Given the description of an element on the screen output the (x, y) to click on. 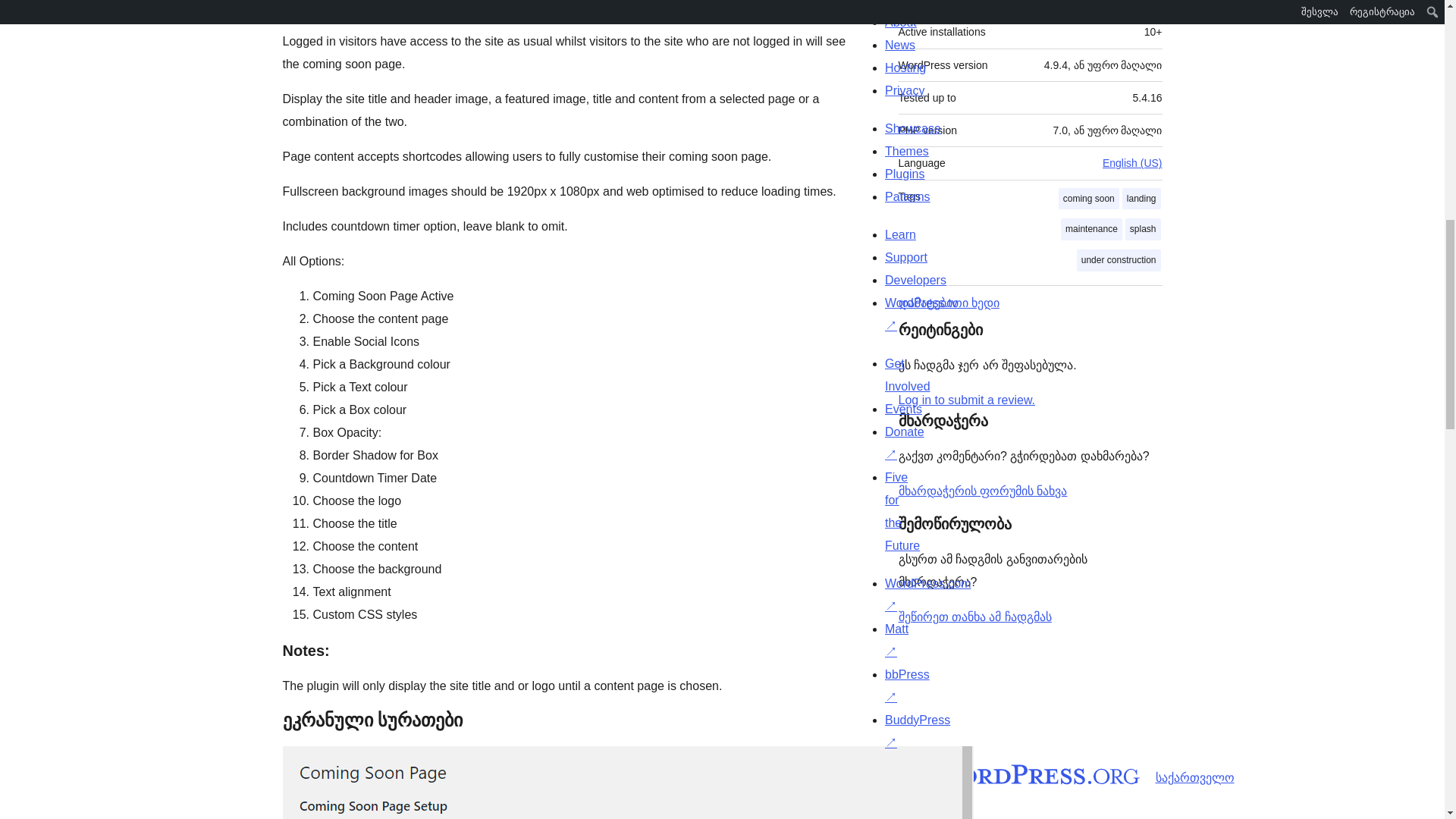
Log in to WordPress.org (966, 399)
WordPress.org (1014, 773)
WordPress.org (864, 773)
